Given the description of an element on the screen output the (x, y) to click on. 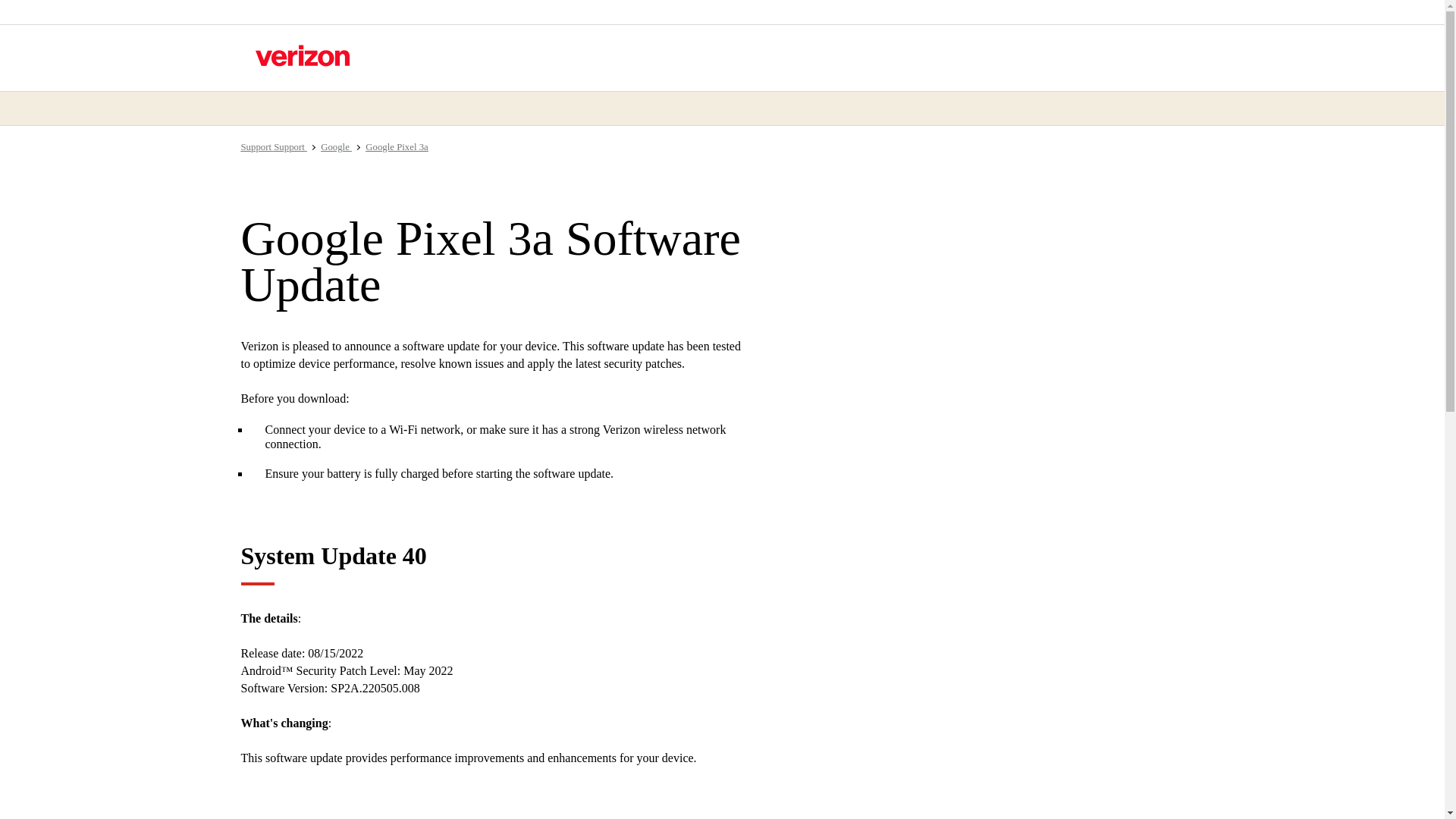
Support (258, 146)
Support (290, 146)
Google Pixel 3a (396, 146)
Verizon Home Page (301, 55)
Google (336, 146)
